Given the description of an element on the screen output the (x, y) to click on. 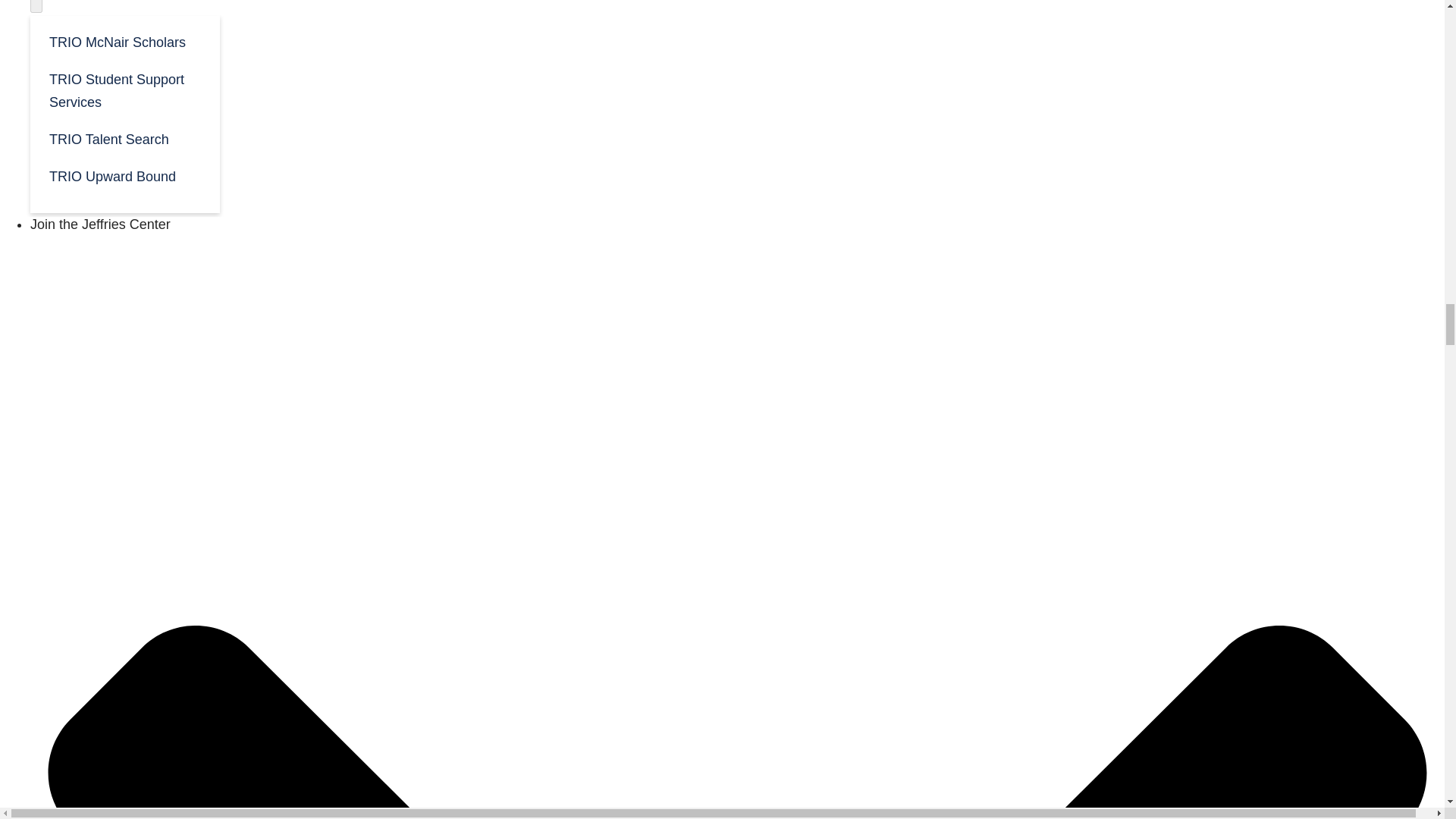
TRIO Talent Search (125, 138)
TRIO McNair Scholars (125, 40)
TRIO Upward Bound (125, 175)
TRIO Student Support Services (125, 89)
Join the Jeffries Center (100, 224)
